Given the description of an element on the screen output the (x, y) to click on. 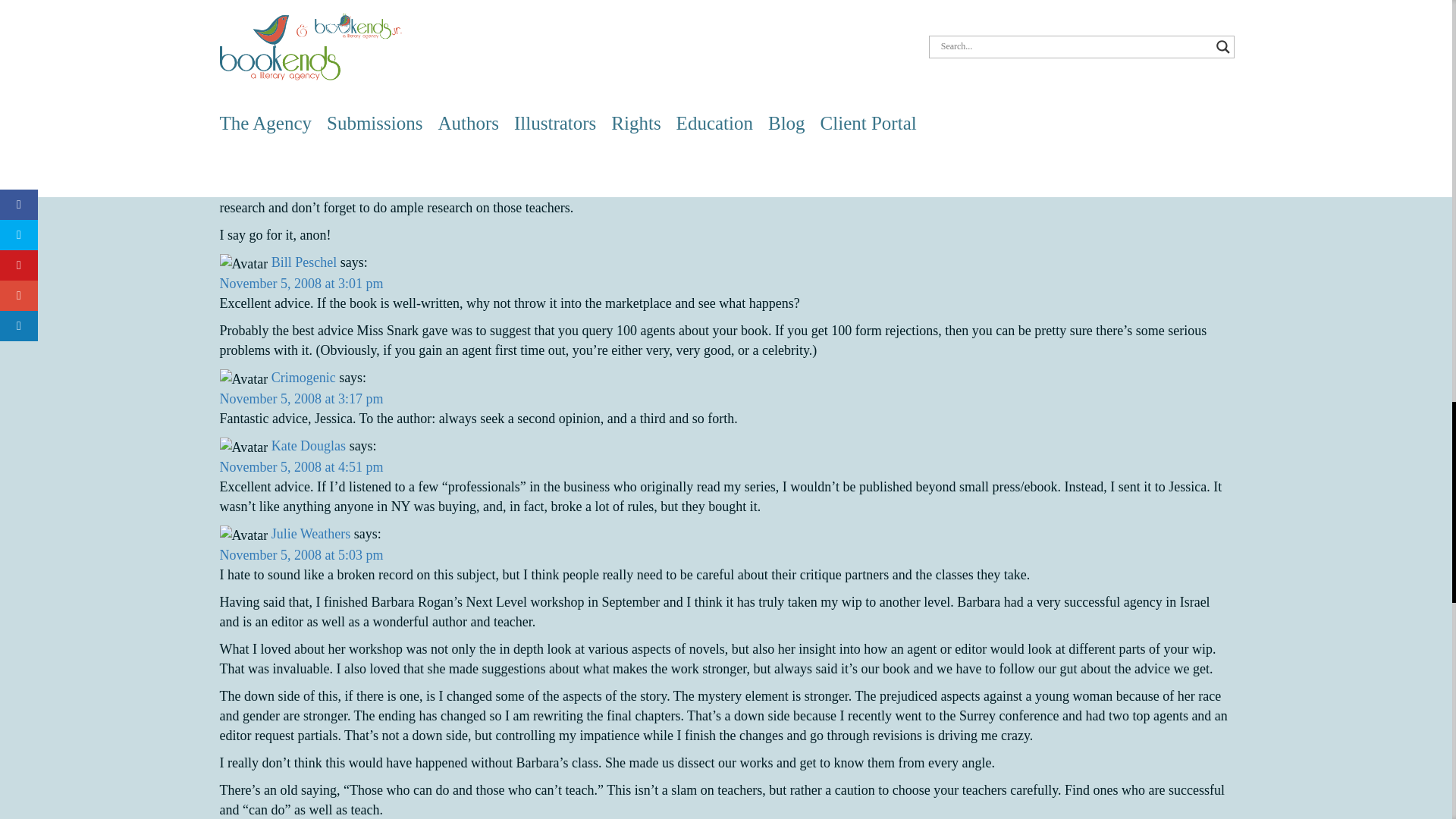
November 5, 2008 at 2:26 pm (301, 79)
